Given the description of an element on the screen output the (x, y) to click on. 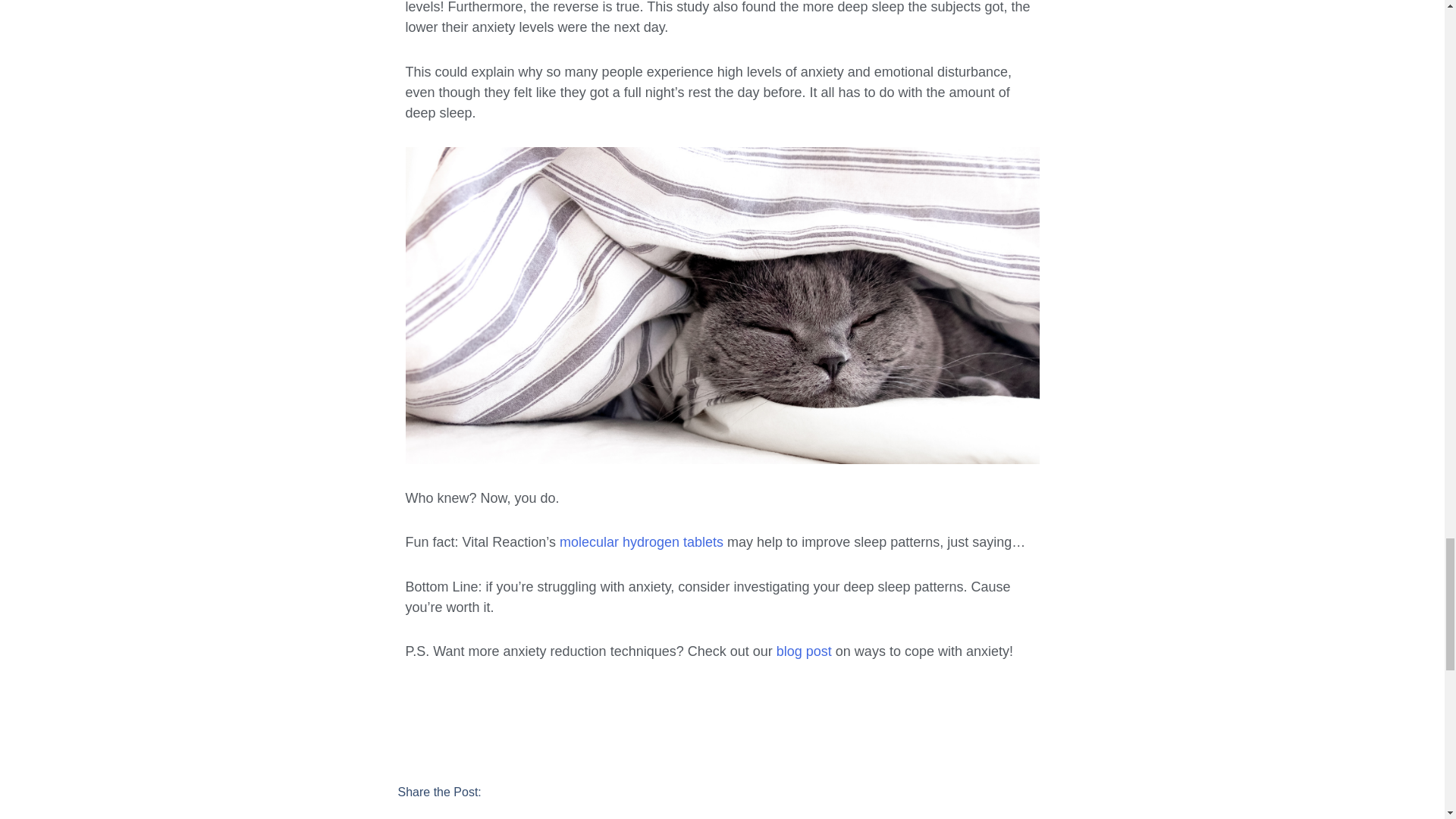
molecular hydrogen tablets (641, 541)
